Given the description of an element on the screen output the (x, y) to click on. 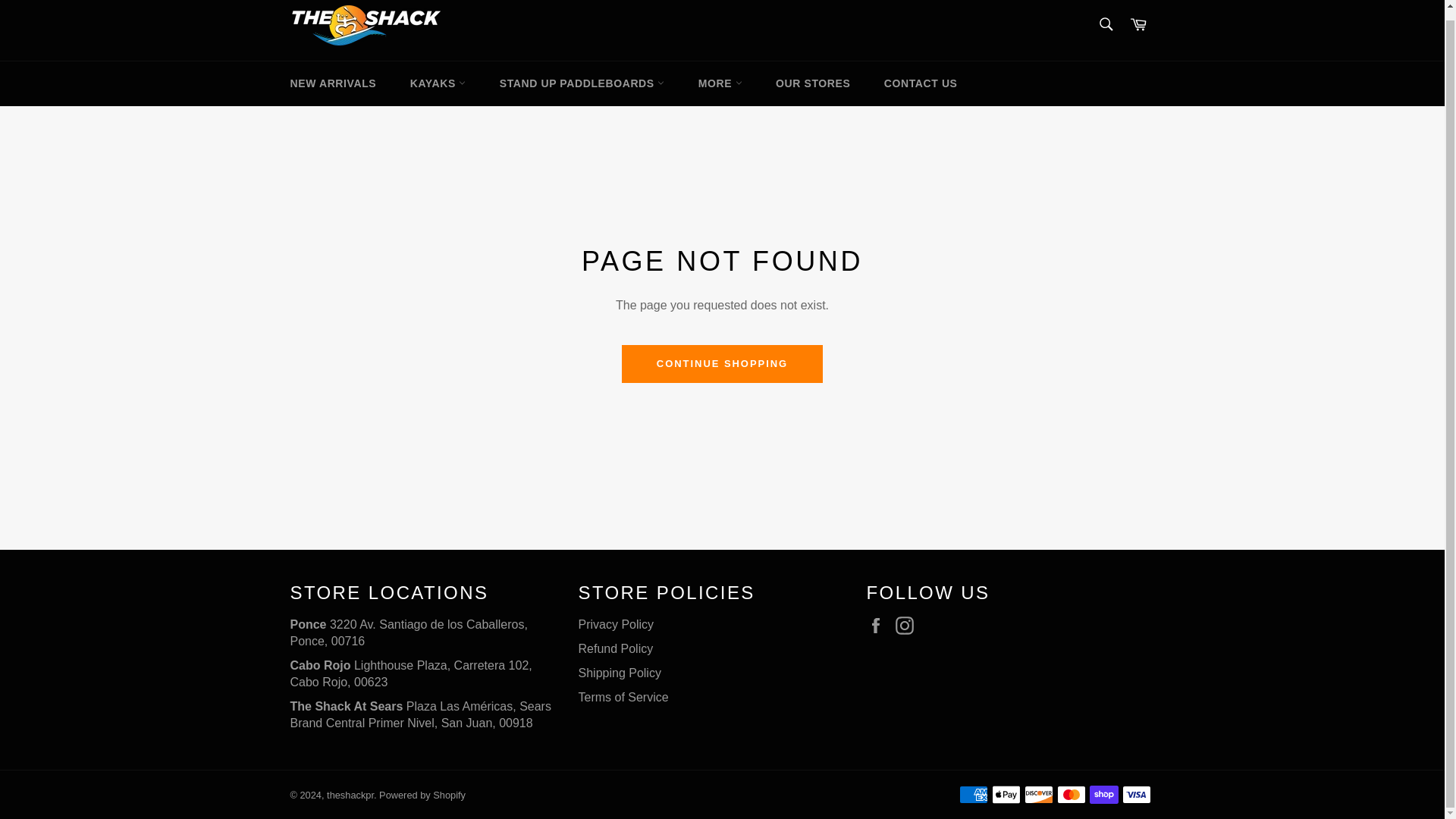
theshackpr on Facebook (878, 625)
The Shack Ponce Google Maps Location (408, 632)
theshackpr on Instagram (908, 625)
Sears Brand Central Google Maps  (419, 714)
The Shack Cabo Rojo Google Maps Location (410, 673)
Search (1104, 24)
